Given the description of an element on the screen output the (x, y) to click on. 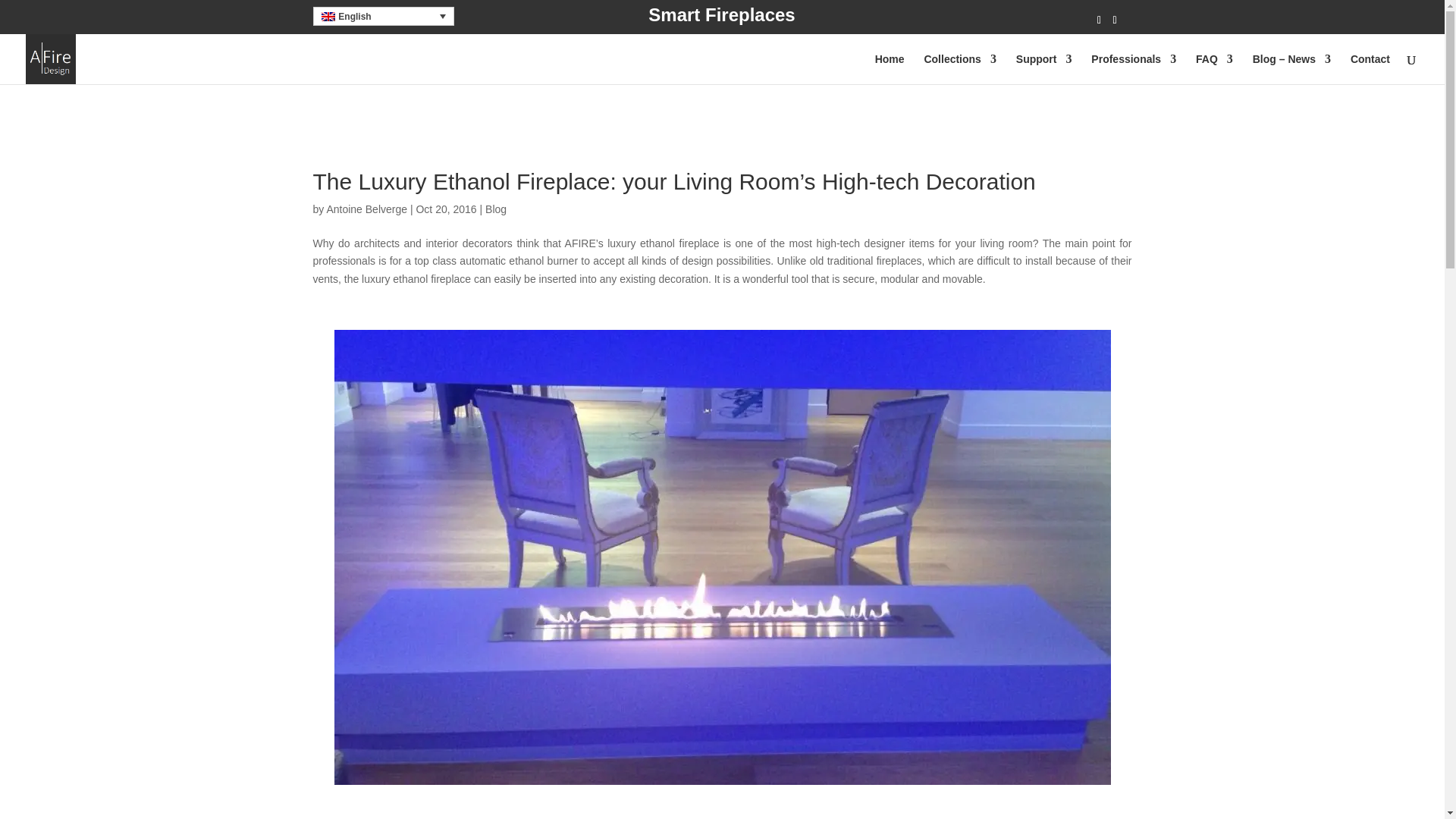
Home (889, 68)
English (382, 15)
Posts by Antoine Belverge (366, 209)
Collections (959, 68)
Professionals (1133, 68)
Support (1043, 68)
